Given the description of an element on the screen output the (x, y) to click on. 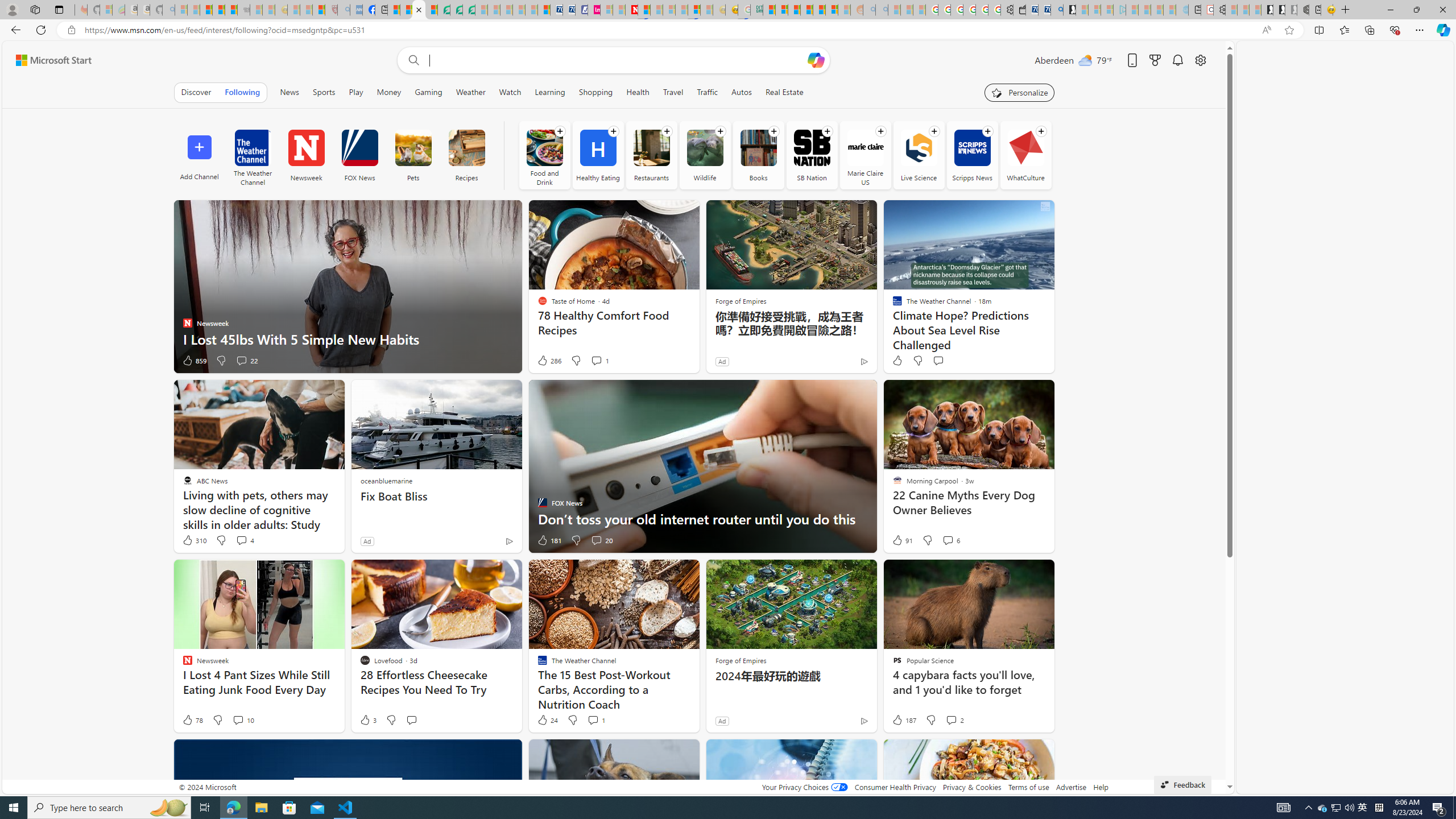
Recipes (466, 147)
Kinda Frugal - MSN (818, 9)
